Given the description of an element on the screen output the (x, y) to click on. 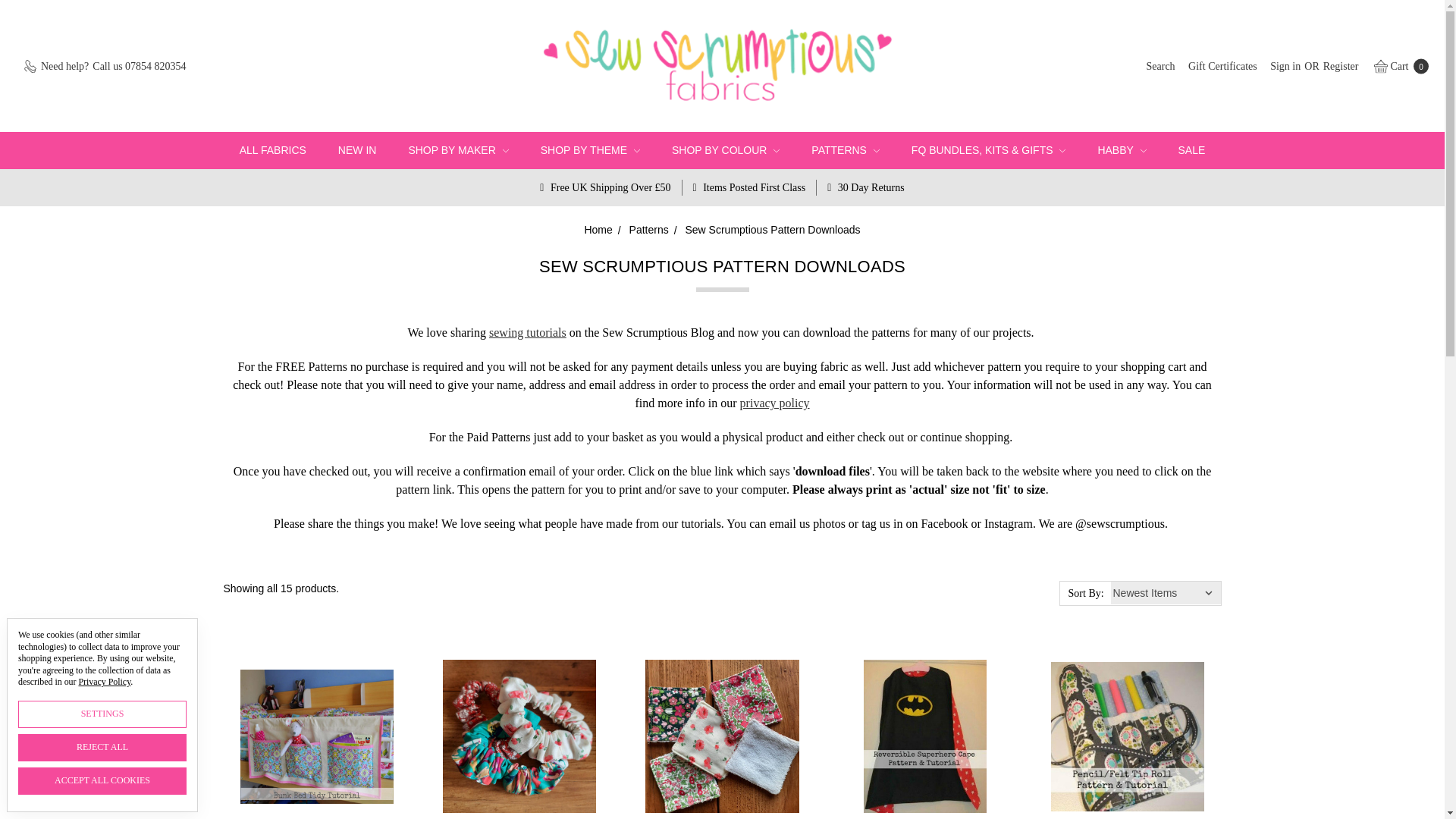
Gift Certificates (1222, 65)
Sew Scrumptious - Reusable Face Wipes Tutorial (721, 736)
Sew Scrumptious - Superhero Cape Tutorial (924, 736)
Register (1340, 65)
Cart 0 (1397, 65)
NEW IN (357, 149)
Sew Scrumptious - Hair Scrunchie Tutorial  (518, 736)
Need help?Call us 07854 820354 (104, 65)
Search (1160, 65)
Sew Scrumptious - Pencil Roll Tutorial (1127, 736)
